Given the description of an element on the screen output the (x, y) to click on. 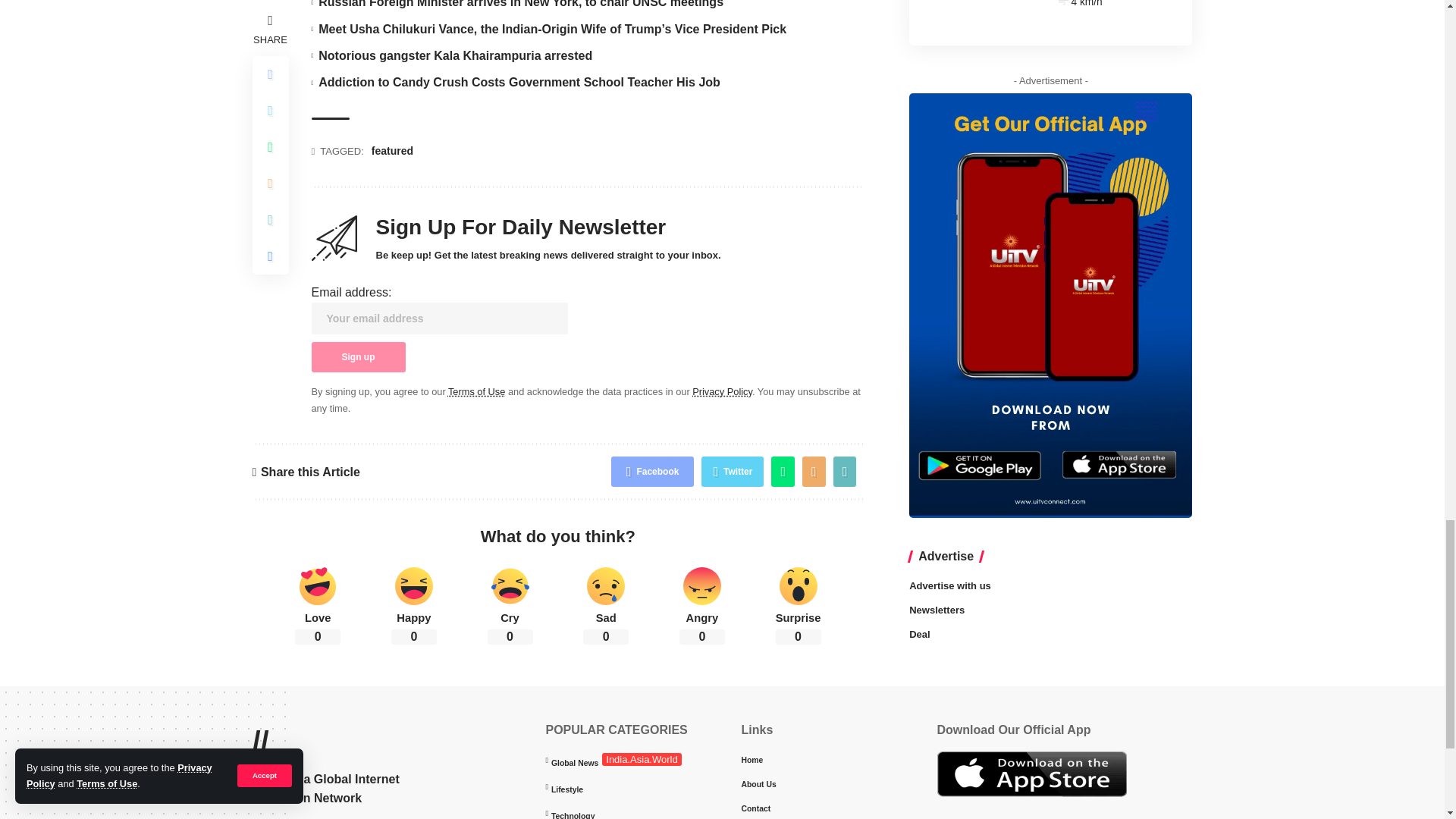
Sign up (357, 357)
